Given the description of an element on the screen output the (x, y) to click on. 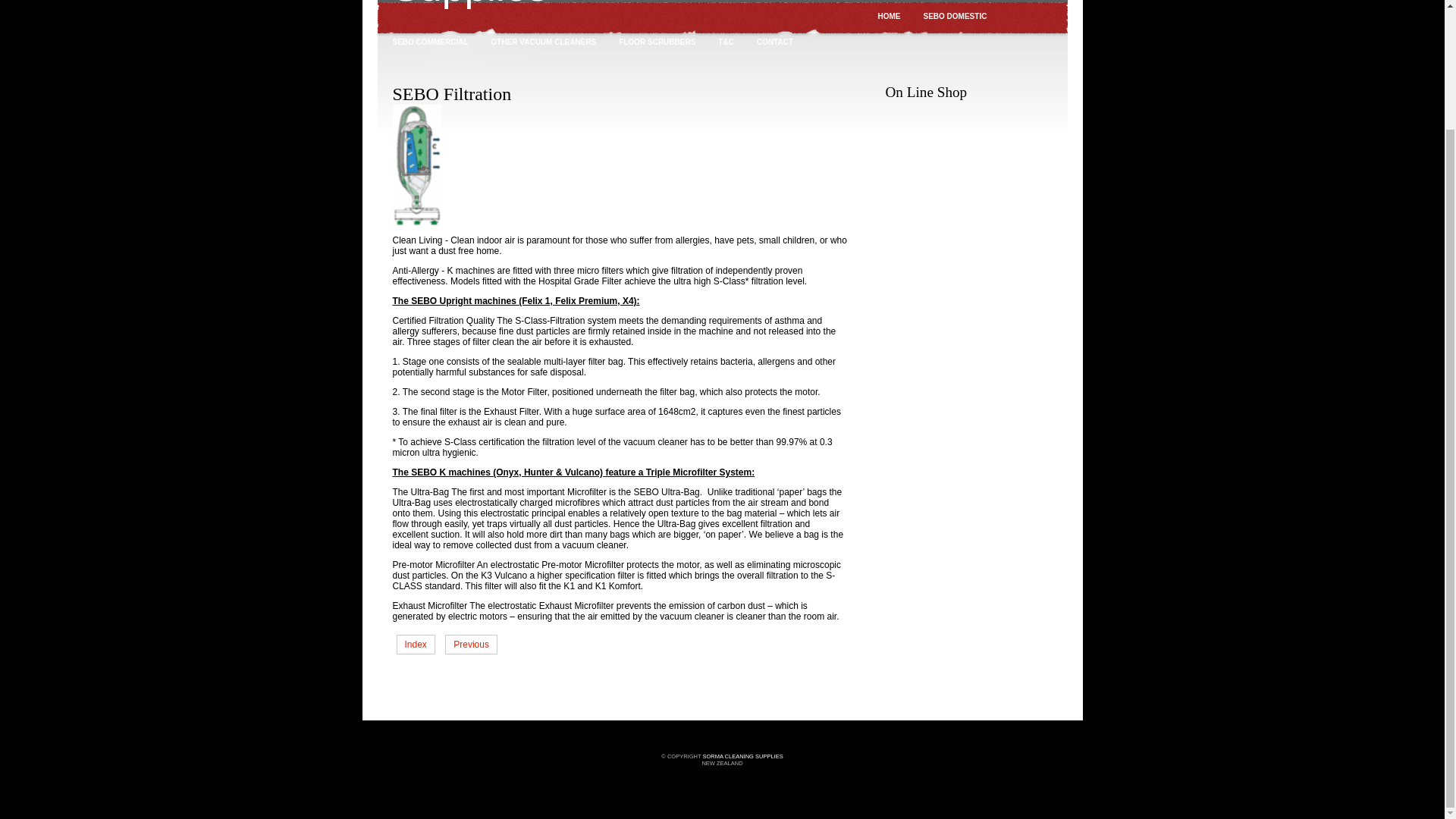
SEBO Filtration (417, 222)
SORMA CLEANING SUPPLIES (742, 756)
SEBO COMMERCIAL (426, 40)
HOME (885, 14)
CONTACT (770, 40)
FLOOR SCRUBBERS (653, 40)
Index (414, 644)
OTHER VACUUM CLEANERS (540, 40)
Previous (471, 644)
SEBO DOMESTIC (951, 14)
